Given the description of an element on the screen output the (x, y) to click on. 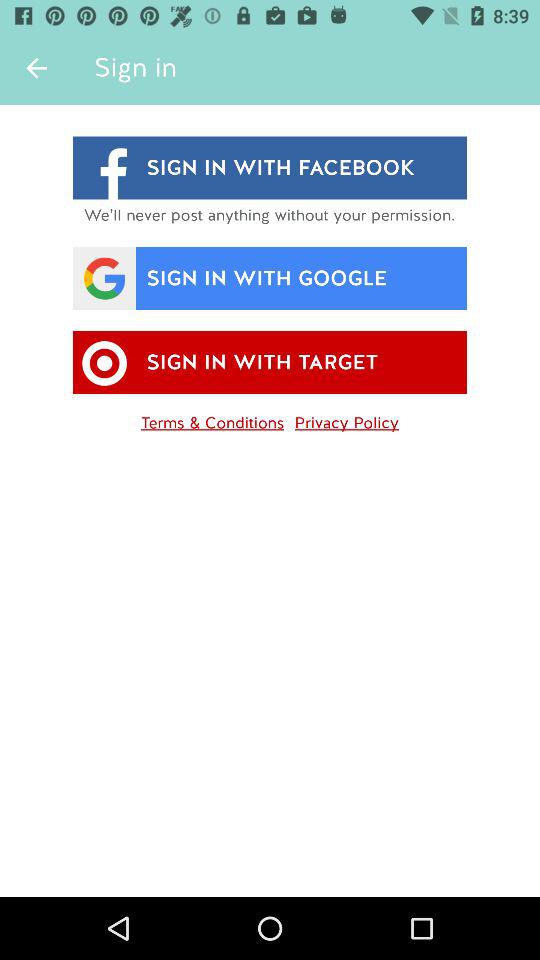
click the icon to the right of the terms & conditions (346, 419)
